Given the description of an element on the screen output the (x, y) to click on. 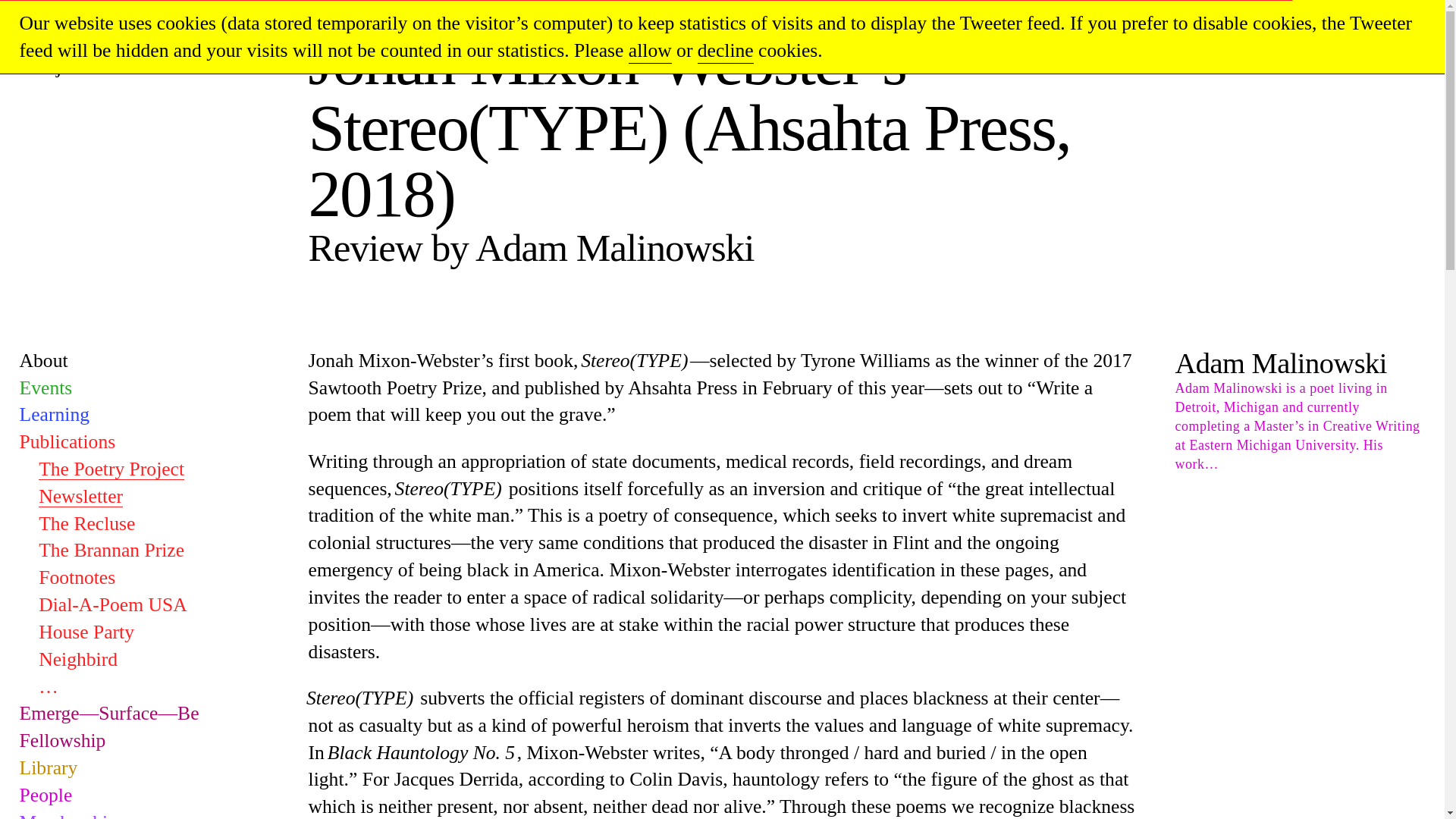
House Party (86, 631)
About (44, 360)
Library (49, 767)
Events (46, 386)
Publications (68, 441)
Footnotes (77, 577)
THE POETRY PROJECT NEWSLETTER (547, 18)
The Brannan Prize (111, 549)
The Poetry Project (57, 44)
PUBLICATIONS (358, 18)
